Given the description of an element on the screen output the (x, y) to click on. 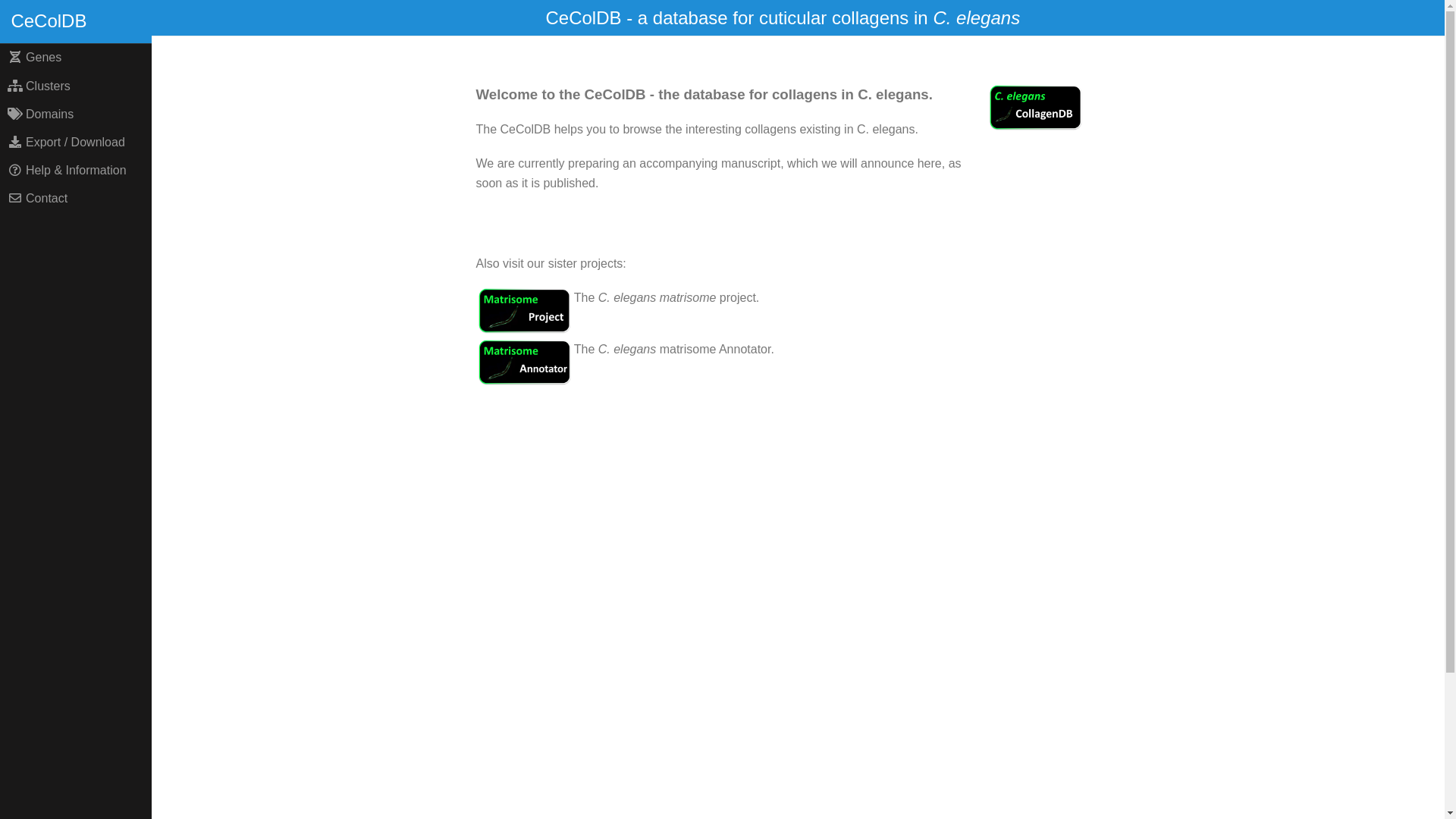
Help & Information Element type: text (75, 170)
Contact Element type: text (75, 199)
Export / Download Element type: text (75, 142)
Domains Element type: text (75, 114)
Genes Element type: text (75, 57)
CeColDB Element type: text (75, 21)
Clusters Element type: text (75, 86)
